Given the description of an element on the screen output the (x, y) to click on. 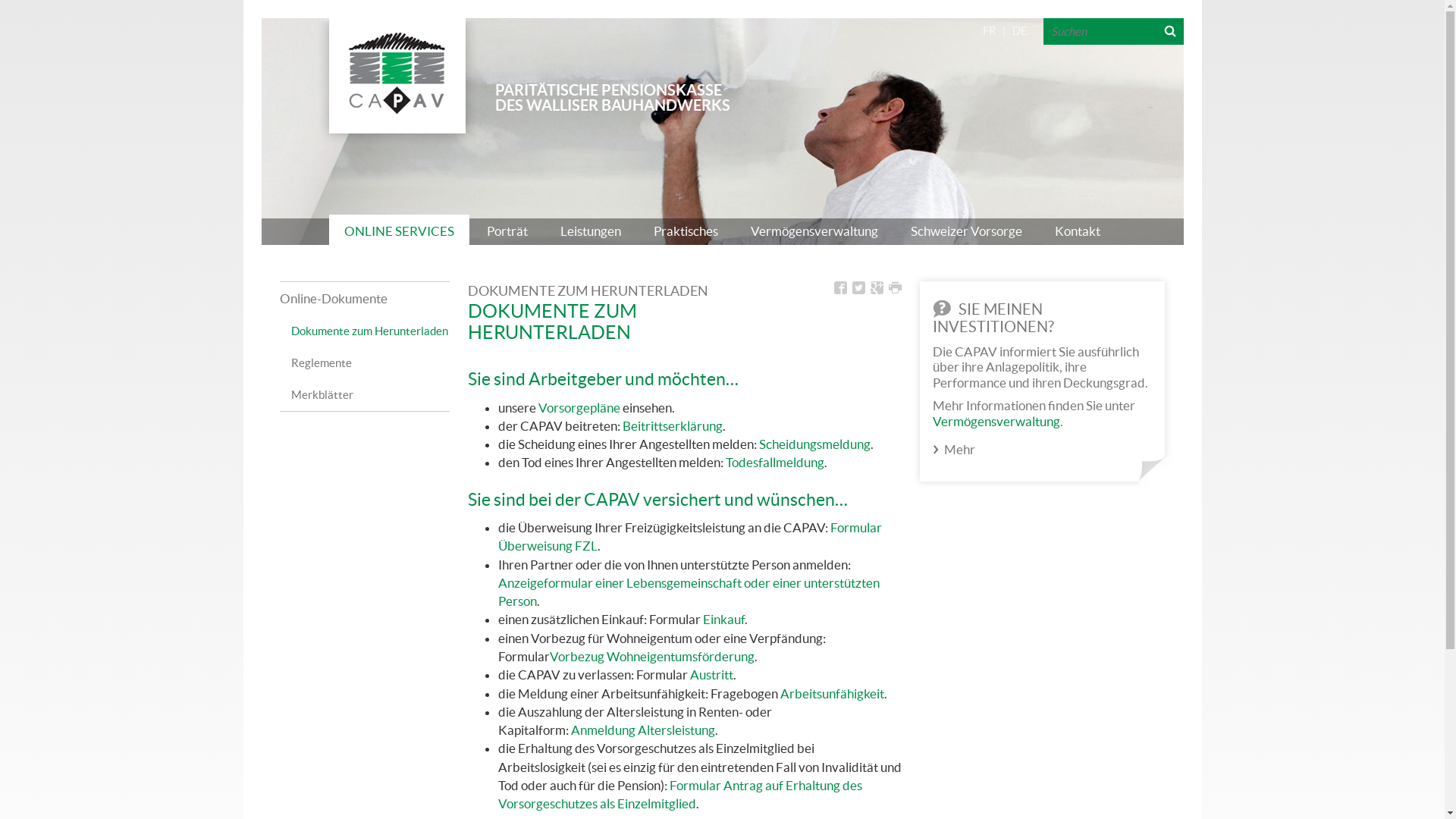
SIE MEINEN INVESTITIONEN? Element type: text (993, 317)
Schweizer Vorsorge Element type: text (966, 231)
Leistungen Element type: text (590, 231)
ONLINE SERVICES Element type: text (399, 231)
Dokumente zum Herunterladen Element type: text (370, 335)
Anmeldung Altersleistung Element type: text (643, 729)
Austritt Element type: text (711, 674)
Praktisches Element type: text (685, 231)
Scheidungsmeldung Element type: text (814, 443)
Einkauf Element type: text (723, 618)
Reglemente Element type: text (370, 366)
Online-Dokumente Element type: text (363, 298)
DE Element type: text (1019, 30)
Mehr Element type: text (959, 449)
Kontakt Element type: text (1077, 231)
FR Element type: text (989, 30)
Vorbezug Element type: text (576, 656)
Todesfallmeldung Element type: text (774, 462)
